Given the description of an element on the screen output the (x, y) to click on. 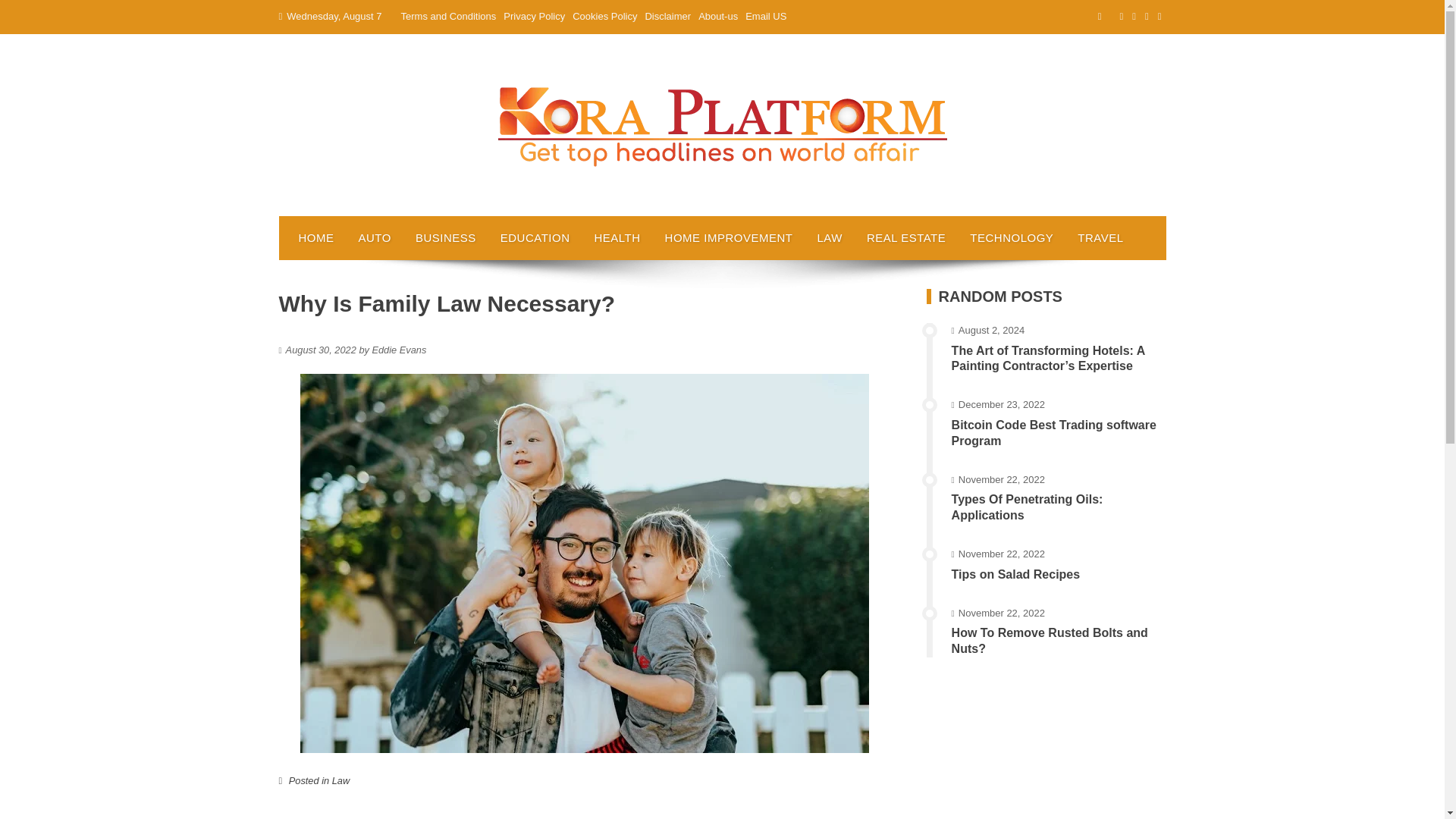
LAW (829, 238)
Email US (765, 16)
Privacy Policy (533, 16)
Terms and Conditions (448, 16)
About-us (718, 16)
Tips on Salad Recipes (1016, 574)
Bitcoin Code Best Trading software Program (1054, 432)
TRAVEL (1100, 238)
AUTO (374, 238)
HOME (316, 238)
Disclaimer (667, 16)
REAL ESTATE (906, 238)
EDUCATION (534, 238)
HOME IMPROVEMENT (728, 238)
BUSINESS (445, 238)
